Given the description of an element on the screen output the (x, y) to click on. 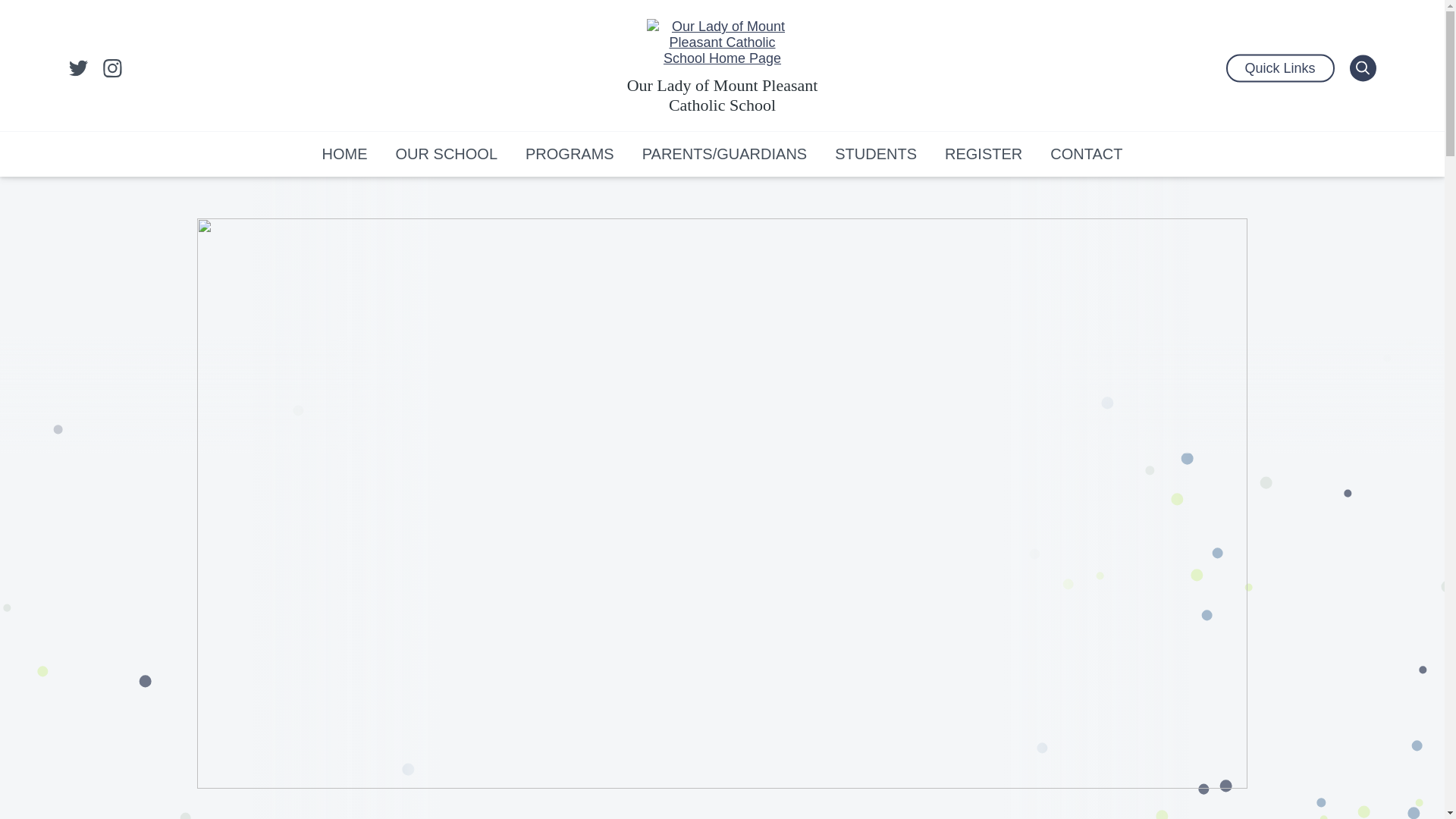
PROGRAMS Element type: text (569, 153)
Our Lady of Mount Pleasant Catholic School's Instagram Element type: hover (112, 68)
STUDENTS Element type: text (875, 153)
PARENTS/GUARDIANS Element type: text (724, 153)
home Element type: hover (721, 42)
Our Lady of Mount Pleasant Catholic School's Twitter Element type: hover (77, 68)
REGISTER Element type: text (983, 153)
OUR SCHOOL Element type: text (446, 153)
HOME Element type: text (344, 153)
Quick Links Element type: text (1279, 68)
Search Element type: text (1362, 68)
CONTACT Element type: text (1086, 153)
